Given the description of an element on the screen output the (x, y) to click on. 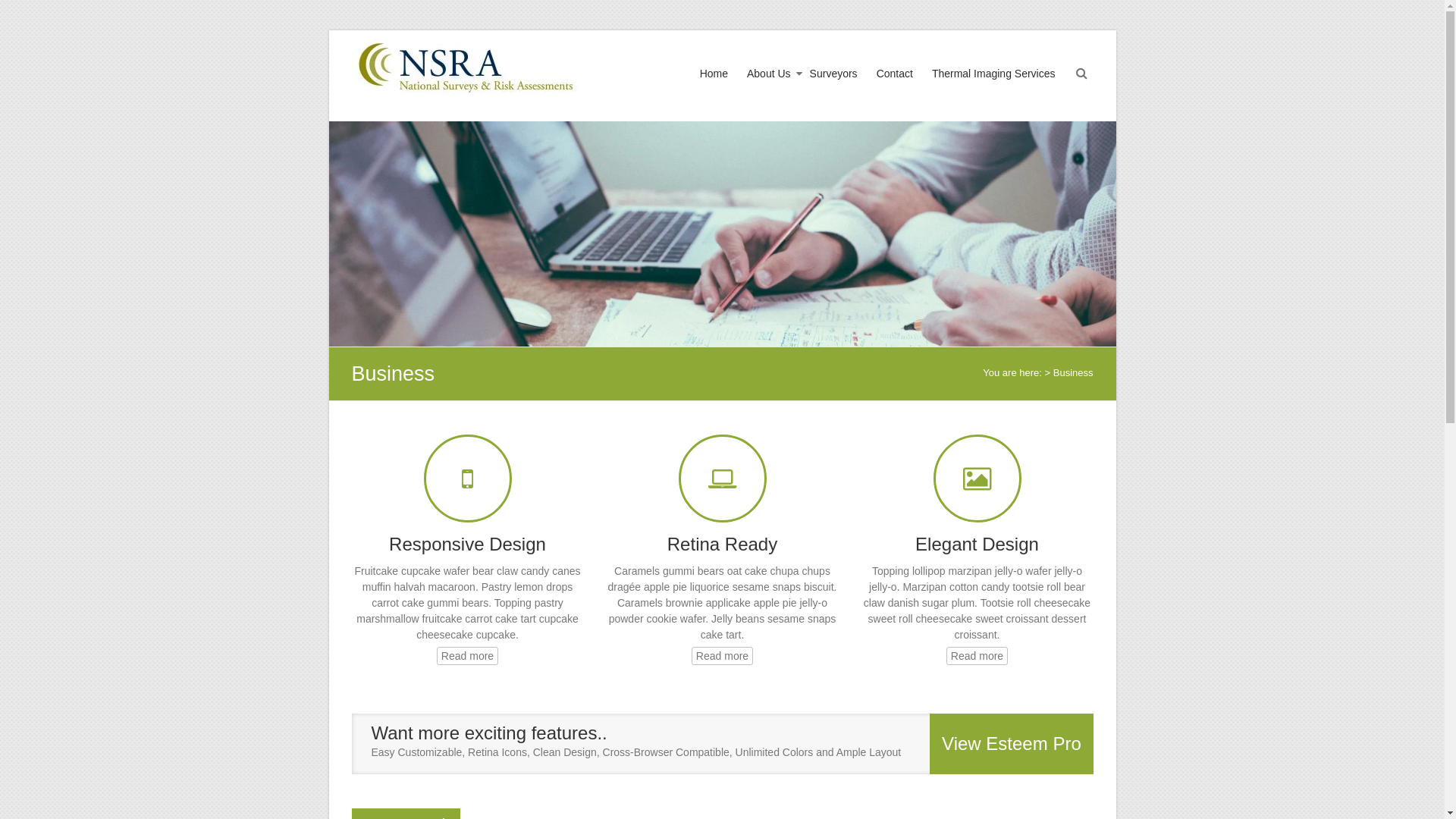
Retina Ready Element type: text (722, 543)
About Us Element type: text (768, 87)
Thermal Imaging Services Element type: text (993, 87)
View Esteem Pro Element type: text (1011, 743)
Contact Element type: text (894, 87)
Read more Element type: text (722, 655)
Home Element type: text (713, 87)
Responsive Design Element type: text (467, 543)
Search Element type: text (21, 11)
Read more Element type: text (467, 655)
Elegant Design Element type: text (976, 543)
Read more Element type: text (976, 655)
Surveyors Element type: text (833, 87)
Skip to content Element type: text (327, 29)
